Given the description of an element on the screen output the (x, y) to click on. 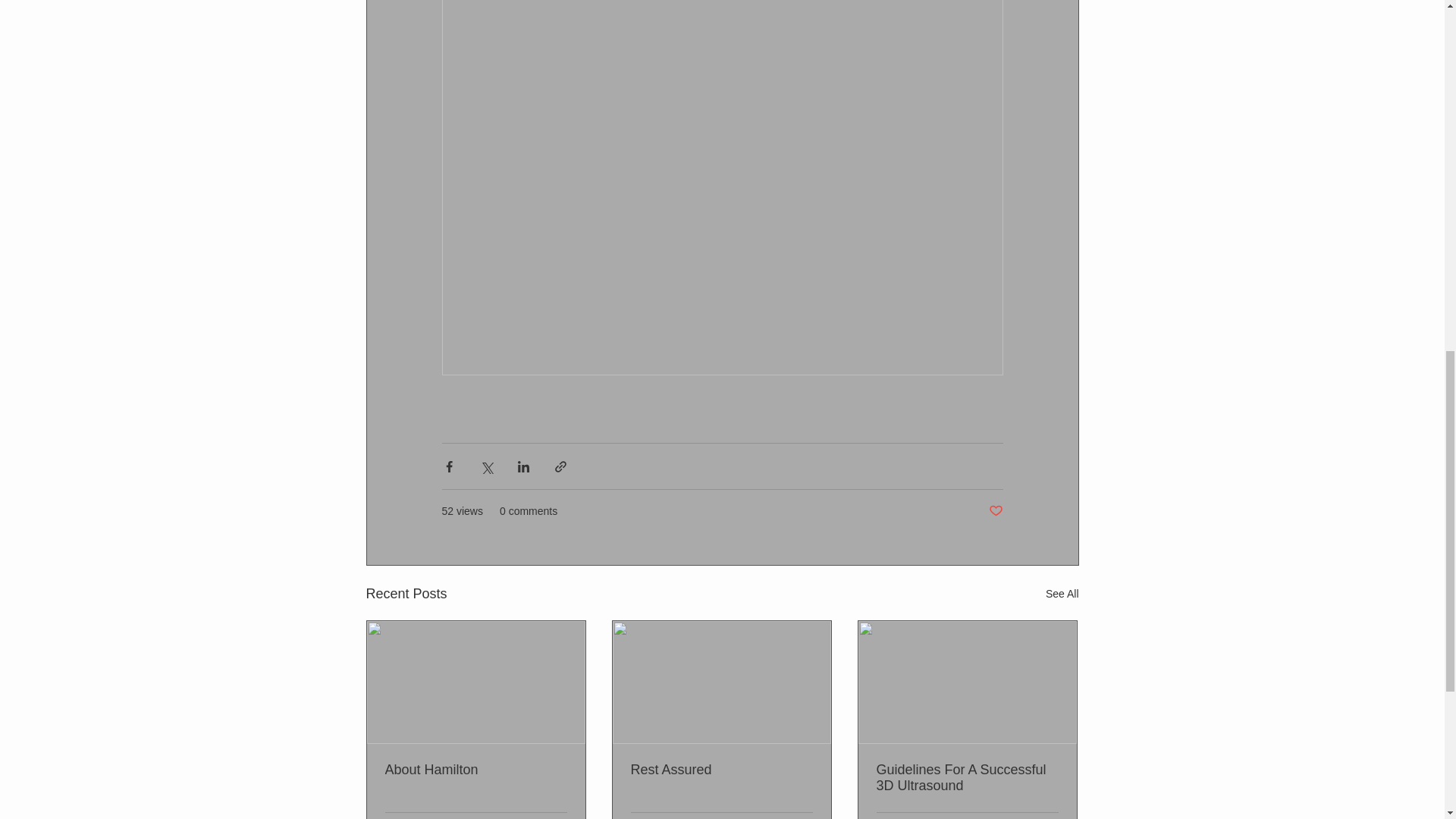
About Hamilton (476, 770)
See All (1061, 594)
Post not marked as liked (995, 511)
Rest Assured (721, 770)
